Given the description of an element on the screen output the (x, y) to click on. 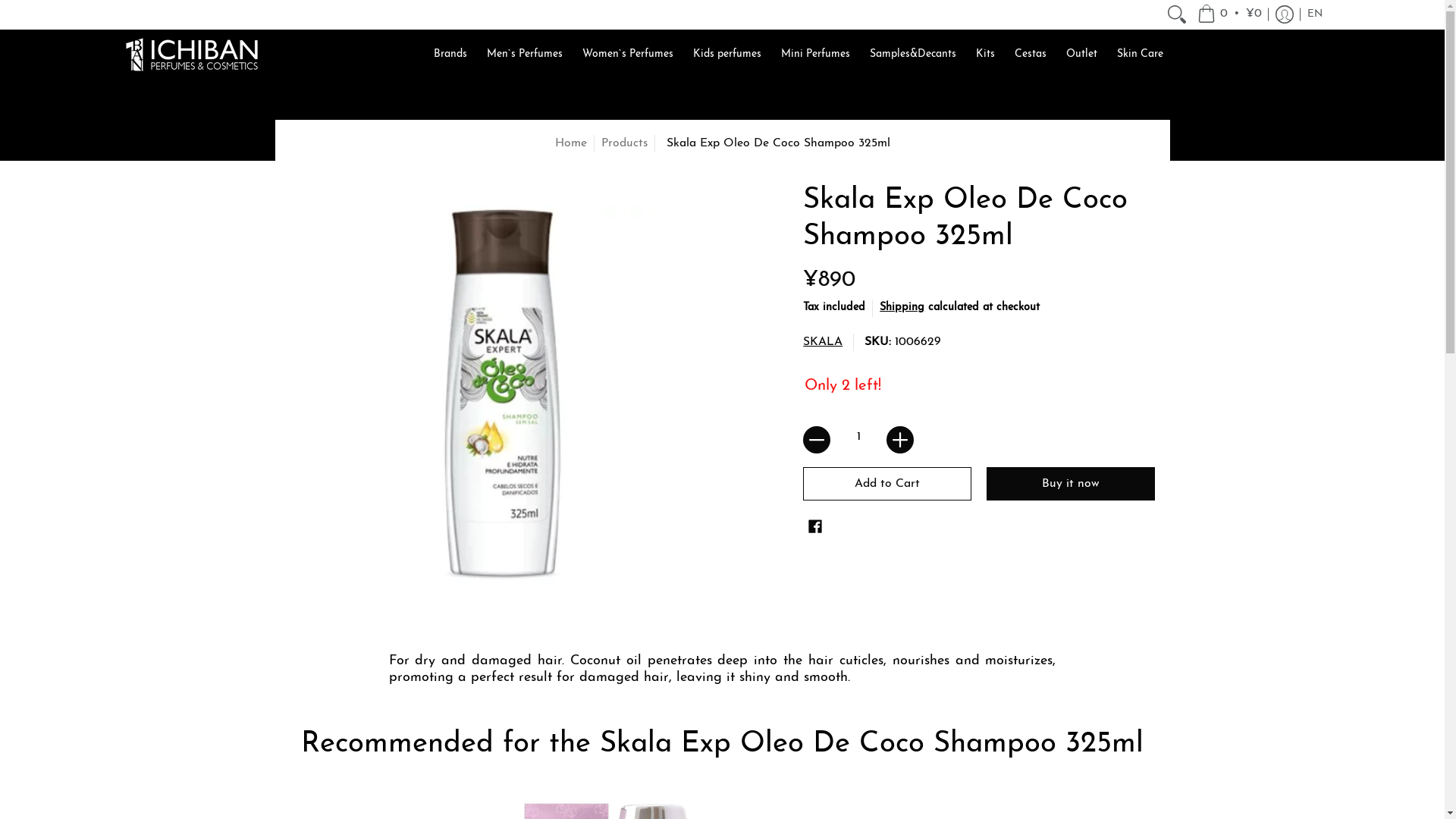
Home Element type: text (570, 143)
Brands Element type: text (450, 53)
Ichiban Perfumes & Cosmetics Element type: hover (190, 53)
Women`s Perfumes Element type: text (627, 53)
Outlet Element type: text (1081, 53)
Products Element type: text (623, 143)
Add to Cart Element type: text (887, 484)
Men`s Perfumes Element type: text (524, 53)
Kits Element type: text (984, 53)
Cestas Element type: text (1030, 53)
Search Element type: hover (1176, 14)
Kids perfumes Element type: text (726, 53)
Mini Perfumes Element type: text (815, 53)
Buy it now Element type: text (1070, 484)
Samples&Decants Element type: text (912, 53)
Log in Element type: hover (1283, 14)
Skin Care Element type: text (1139, 53)
SKALA Element type: text (822, 341)
Shipping Element type: text (901, 307)
EN Element type: text (1313, 14)
